Given the description of an element on the screen output the (x, y) to click on. 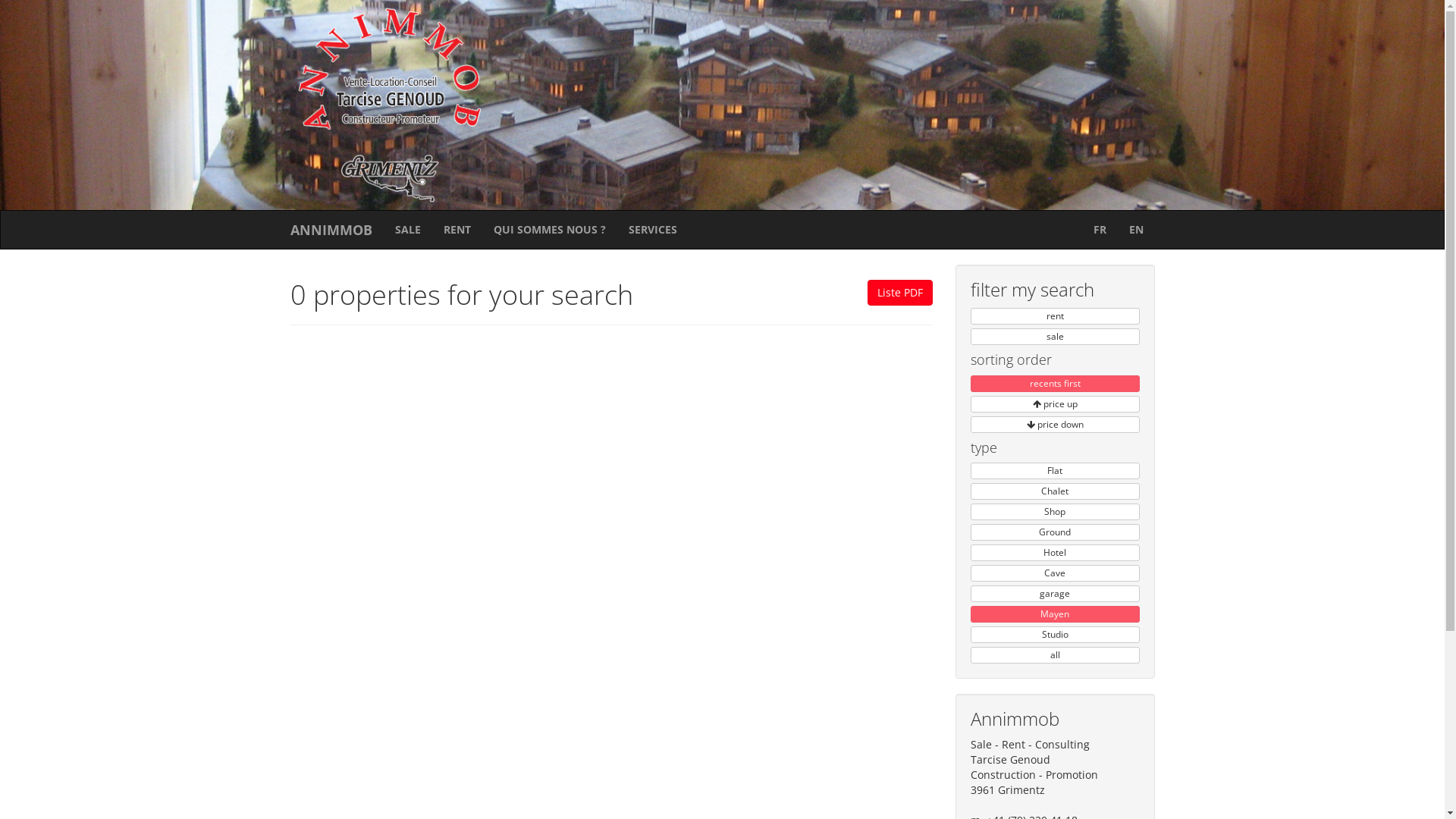
price up Element type: text (1054, 403)
RENT Element type: text (457, 229)
price down Element type: text (1054, 424)
Studio Element type: text (1054, 634)
Ground Element type: text (1054, 532)
Shop Element type: text (1054, 511)
SERVICES Element type: text (652, 229)
FR Element type: text (1099, 229)
Cave Element type: text (1054, 572)
Flat Element type: text (1054, 470)
all Element type: text (1054, 654)
Chalet Element type: text (1054, 491)
Liste PDF Element type: text (899, 292)
EN Element type: text (1135, 229)
SALE Element type: text (407, 229)
Hotel Element type: text (1054, 552)
sale Element type: text (1054, 336)
recents first Element type: text (1054, 383)
Mayen Element type: text (1054, 613)
garage Element type: text (1054, 593)
QUI SOMMES NOUS ? Element type: text (549, 229)
rent Element type: text (1054, 315)
ANNIMMOB Element type: text (331, 229)
